Given the description of an element on the screen output the (x, y) to click on. 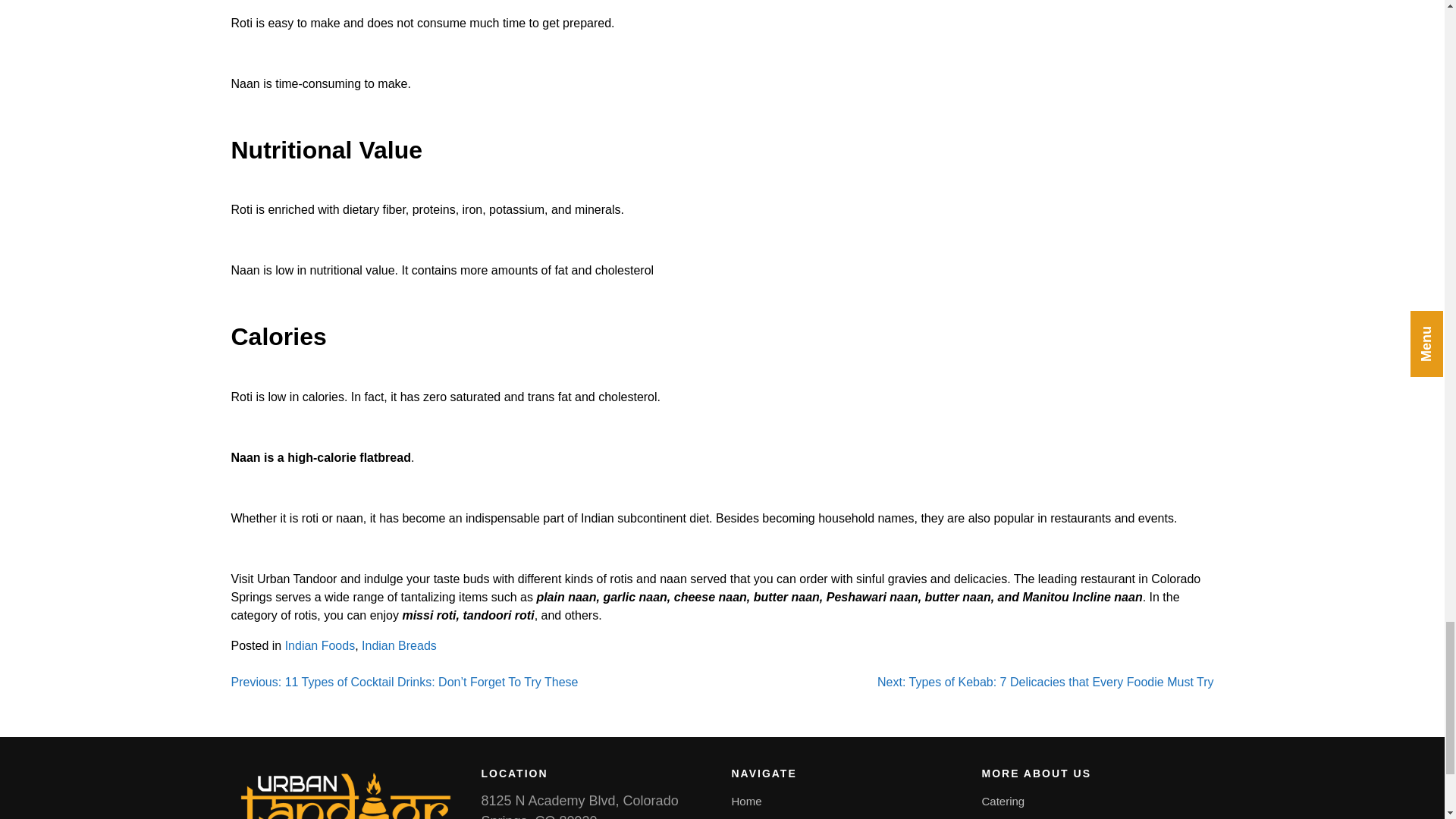
Indian Foods (320, 645)
Catering (1003, 800)
About Us (753, 817)
Order Online (1013, 817)
Home (745, 800)
Indian Breads (398, 645)
